Given the description of an element on the screen output the (x, y) to click on. 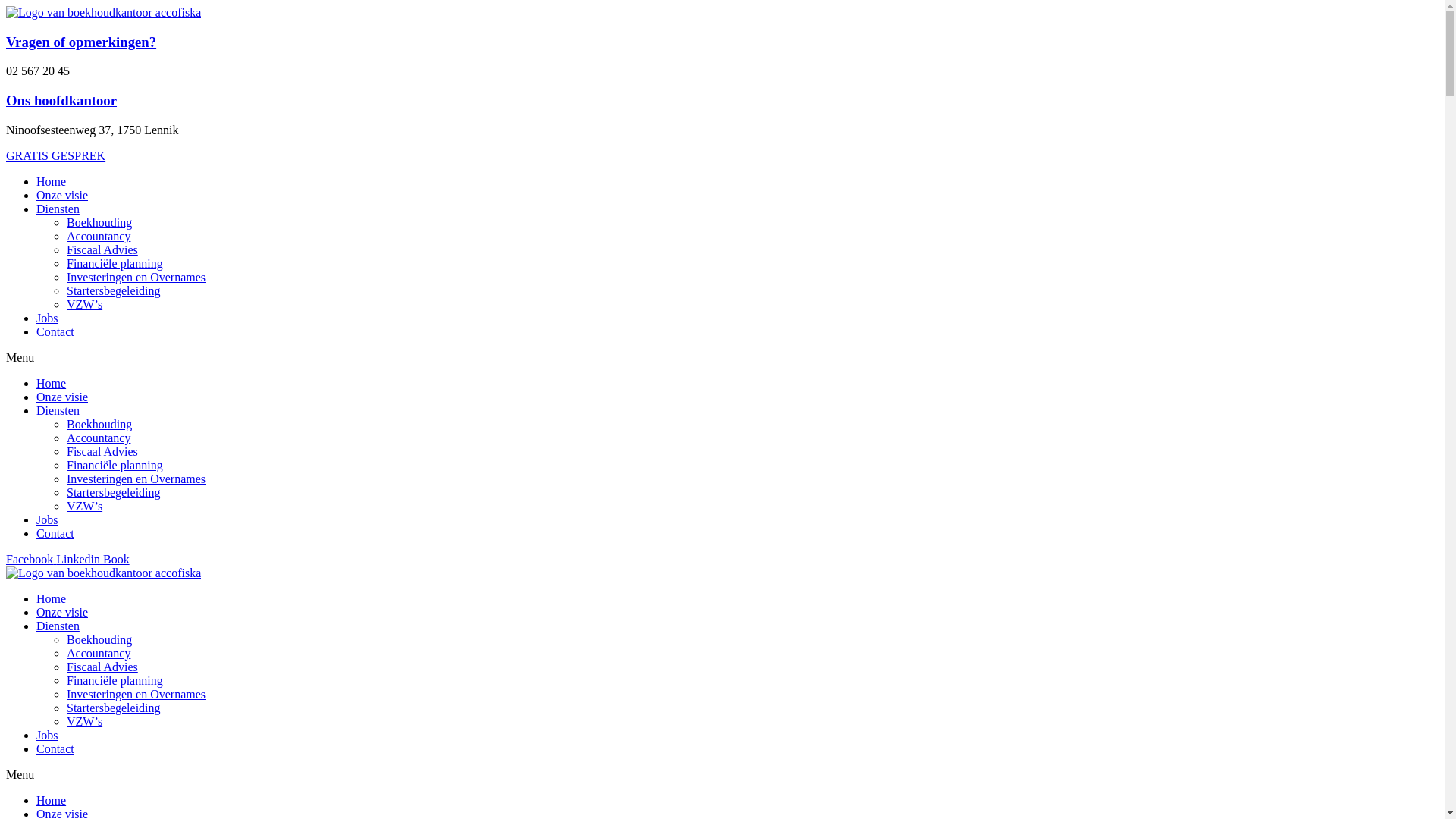
Home Element type: text (50, 799)
Startersbegeleiding Element type: text (113, 707)
Investeringen en Overnames Element type: text (135, 478)
Startersbegeleiding Element type: text (113, 290)
Onze visie Element type: text (61, 396)
Jobs Element type: text (46, 317)
Ons hoofdkantoor Element type: text (61, 100)
GRATIS GESPREK Element type: text (55, 155)
Home Element type: text (50, 382)
Contact Element type: text (55, 533)
Fiscaal Advies Element type: text (102, 451)
Diensten Element type: text (57, 208)
Onze visie Element type: text (61, 194)
Accountancy Element type: text (98, 652)
Home Element type: text (50, 181)
Boekhouding Element type: text (98, 639)
Fiscaal Advies Element type: text (102, 249)
Vragen of opmerkingen? Element type: text (81, 42)
Jobs Element type: text (46, 734)
Ga naar de inhoud Element type: text (5, 5)
Fiscaal Advies Element type: text (102, 666)
Investeringen en Overnames Element type: text (135, 693)
Onze visie Element type: text (61, 611)
Facebook Element type: text (31, 558)
Diensten Element type: text (57, 410)
Investeringen en Overnames Element type: text (135, 276)
Book Element type: text (116, 558)
Accountancy Element type: text (98, 235)
Jobs Element type: text (46, 519)
Boekhouding Element type: text (98, 222)
Home Element type: text (50, 598)
Diensten Element type: text (57, 625)
Boekhouding Element type: text (98, 423)
Contact Element type: text (55, 331)
Accountancy Element type: text (98, 437)
Startersbegeleiding Element type: text (113, 492)
Linkedin Element type: text (79, 558)
Contact Element type: text (55, 748)
